Given the description of an element on the screen output the (x, y) to click on. 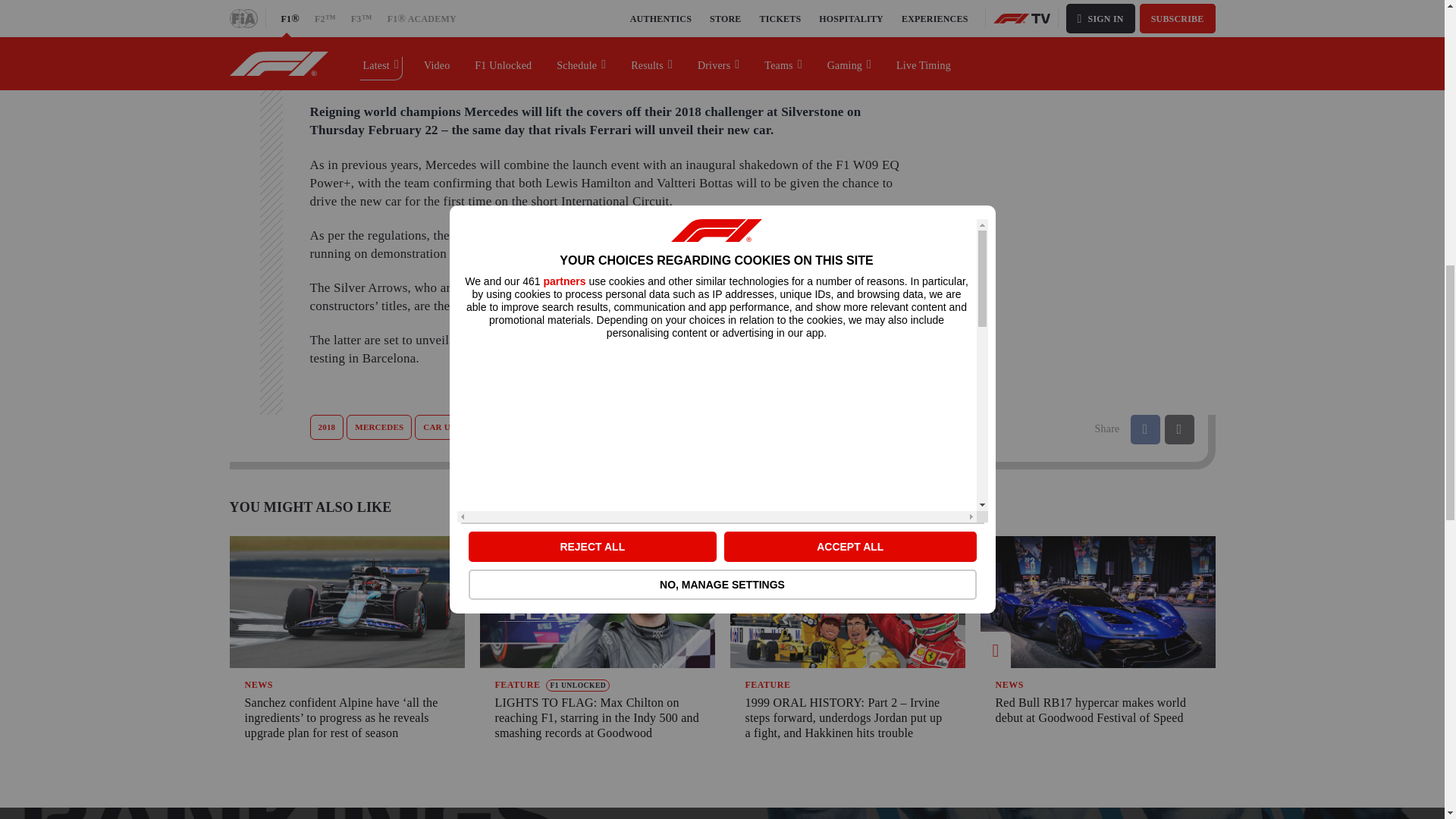
Discover more news (1018, 56)
